Given the description of an element on the screen output the (x, y) to click on. 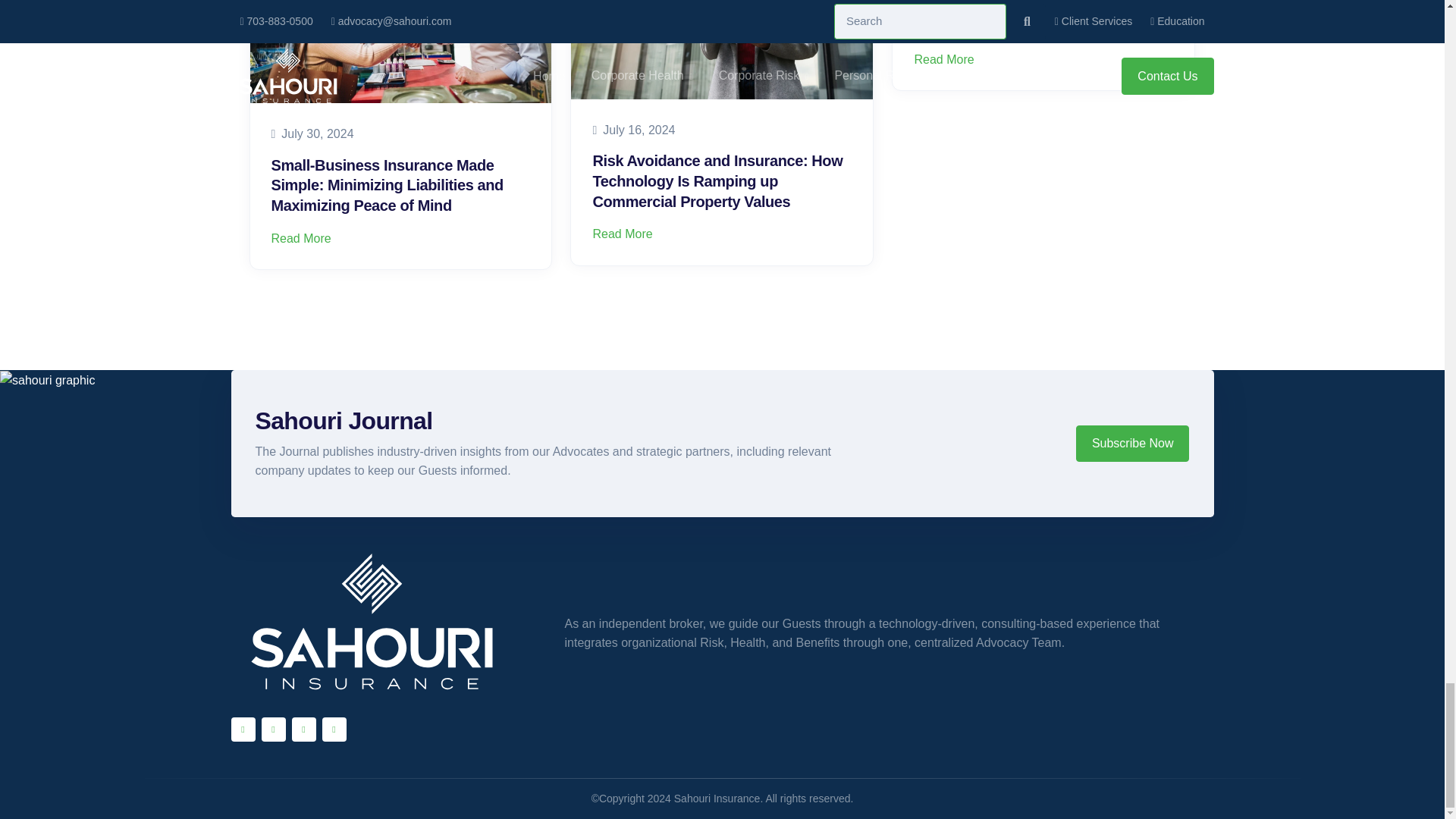
Sahouri Insurance (371, 622)
sahouri graphic (47, 380)
sahouri logo (1131, 436)
business risk (400, 51)
commercial insurance (721, 49)
